Given the description of an element on the screen output the (x, y) to click on. 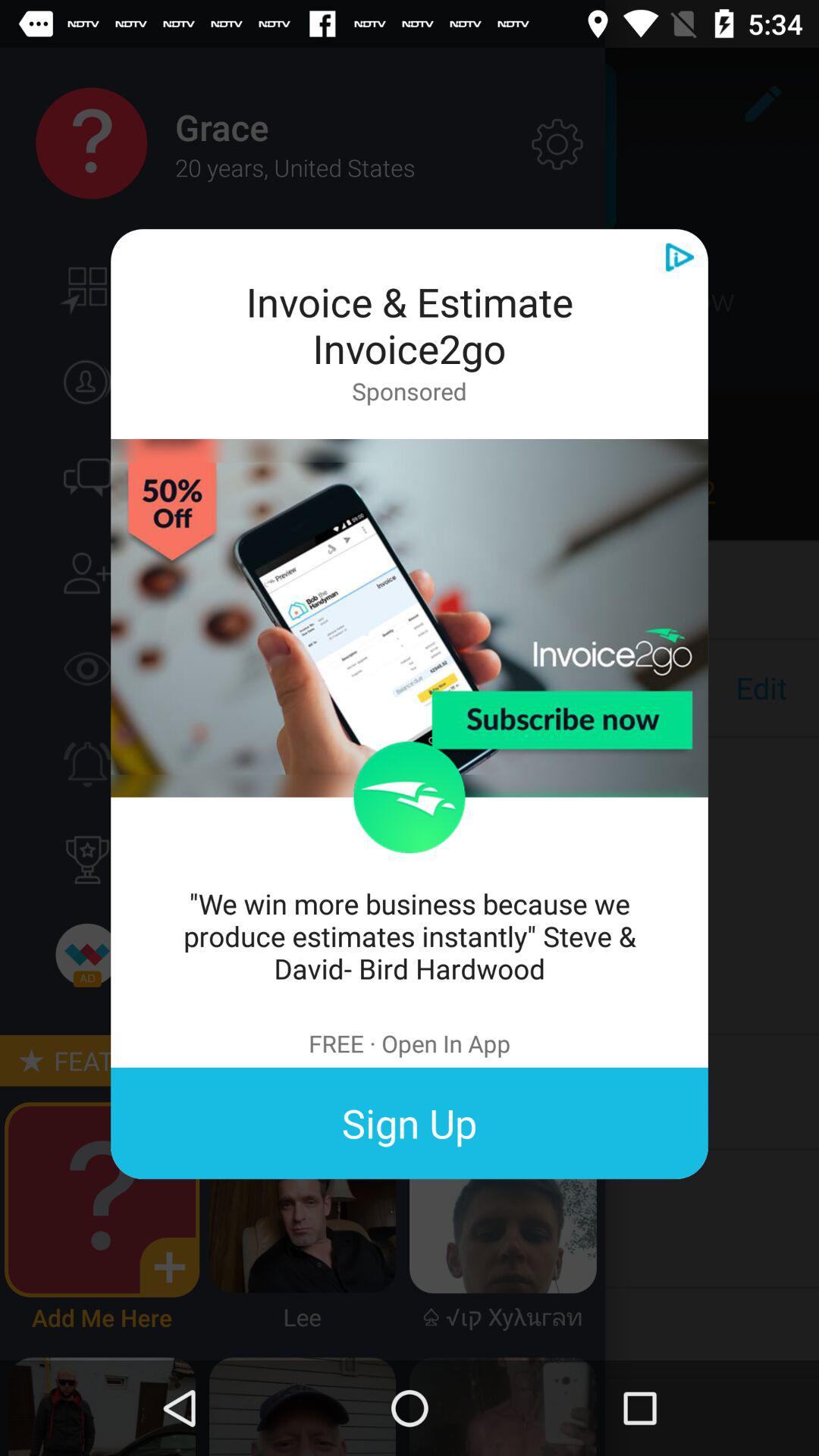
open sign up item (409, 1123)
